Given the description of an element on the screen output the (x, y) to click on. 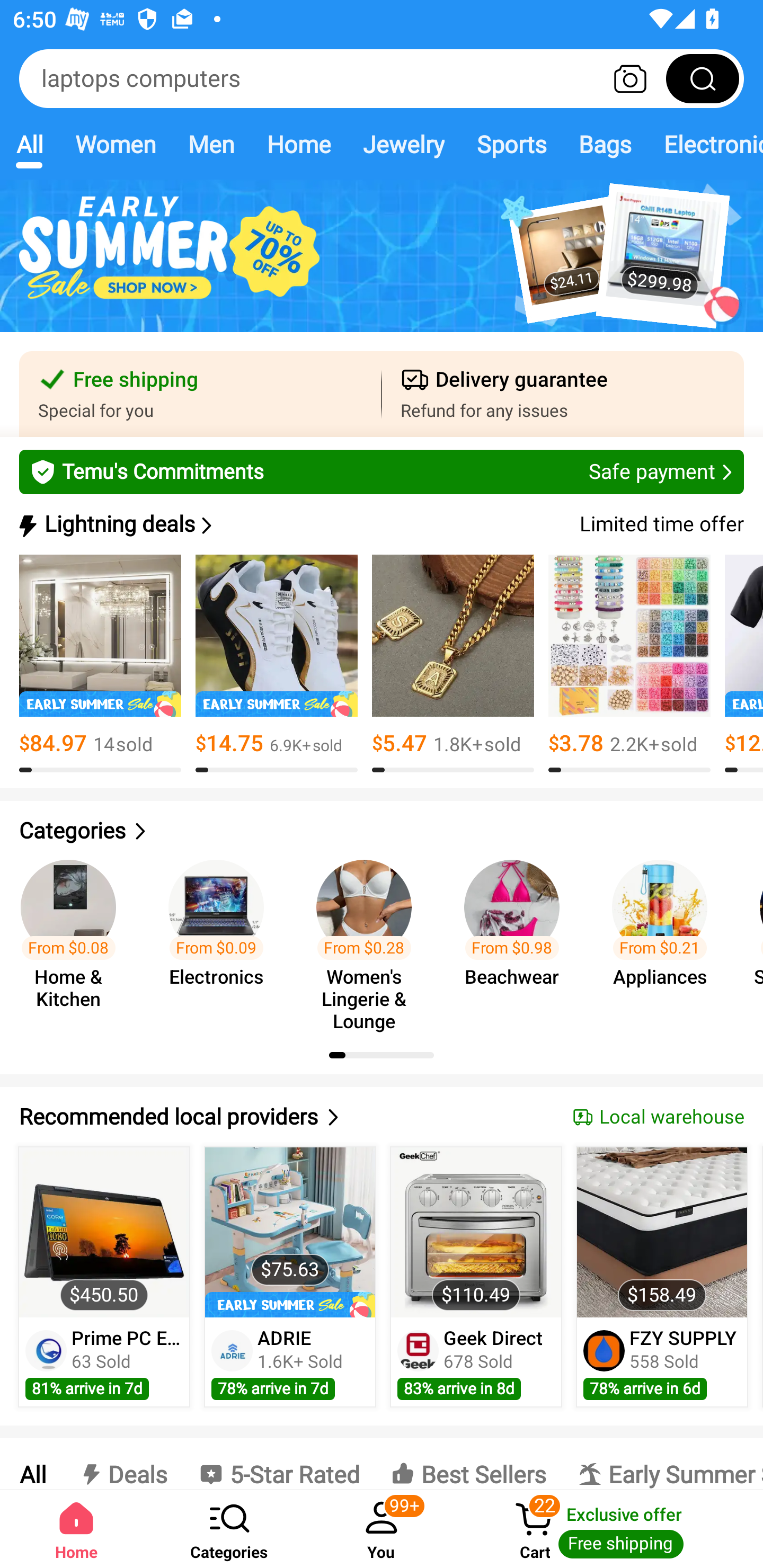
laptops computers (381, 78)
All (29, 144)
Women (115, 144)
Men (211, 144)
Home (298, 144)
Jewelry (403, 144)
Sports (511, 144)
Bags (605, 144)
Electronics (705, 144)
$24.11 $299.98 (381, 265)
Free shipping Special for you (200, 394)
Delivery guarantee Refund for any issues (562, 394)
Temu's Commitments (381, 471)
Lightning deals Lightning deals Limited time offer (379, 524)
$84.97 14￼sold 8.0 (100, 664)
$14.75 6.9K+￼sold 8.0 (276, 664)
$5.47 1.8K+￼sold 8.0 (453, 664)
$3.78 2.2K+￼sold 8.0 (629, 664)
Categories (381, 830)
From $0.08 Home & Kitchen (74, 936)
From $0.09 Electronics (222, 936)
From $0.28 Women's Lingerie & Lounge (369, 936)
From $0.98 Beachwear (517, 936)
From $0.21 Appliances (665, 936)
$450.50 Prime PC Emporium 63 Sold 81% arrive in 7d (103, 1276)
$75.63 ADRIE 1.6K+ Sold 78% arrive in 7d (289, 1276)
$110.49 Geek Direct 678 Sold 83% arrive in 8d (475, 1276)
$158.49 FZY SUPPLY 558 Sold 78% arrive in 6d (661, 1276)
$450.50 (104, 1232)
$75.63 (290, 1232)
$110.49 (475, 1232)
$158.49 (661, 1232)
All (32, 1463)
Deals Deals Deals (122, 1463)
5-Star Rated 5-Star Rated 5-Star Rated (279, 1463)
Best Sellers Best Sellers Best Sellers (468, 1463)
Home (76, 1528)
Categories (228, 1528)
You ‎99+‎ You (381, 1528)
Cart 22 Cart Exclusive offer (610, 1528)
